Given the description of an element on the screen output the (x, y) to click on. 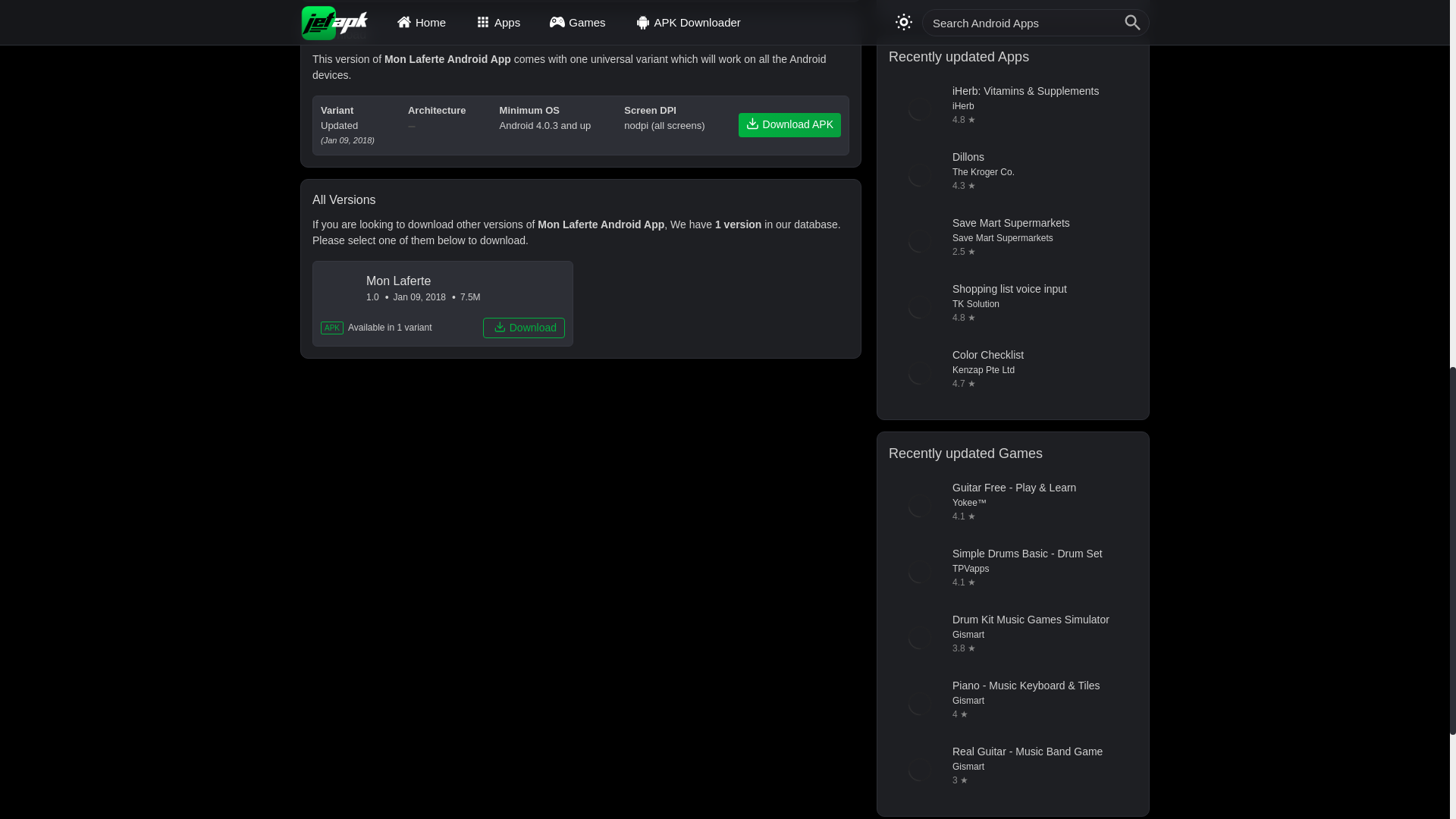
Color Checklist 1.8 Android APK (1012, 373)
Shopping list voice input Latest Android APK (1012, 307)
Simple Drums Basic - Drum Set 1.3.9 Android APK (1012, 571)
Save Mart Supermarkets 4.8.3 Android APK (1012, 240)
Download APK (789, 125)
Dillons 71.3 Android APK (1012, 175)
Mon Laferte 1.0 older version APK (443, 303)
Drum Kit Music Games Simulator 3.45.2 Android APK (1012, 637)
NF - Music And Lyrics 1.0 Android APK (1012, 3)
